Given the description of an element on the screen output the (x, y) to click on. 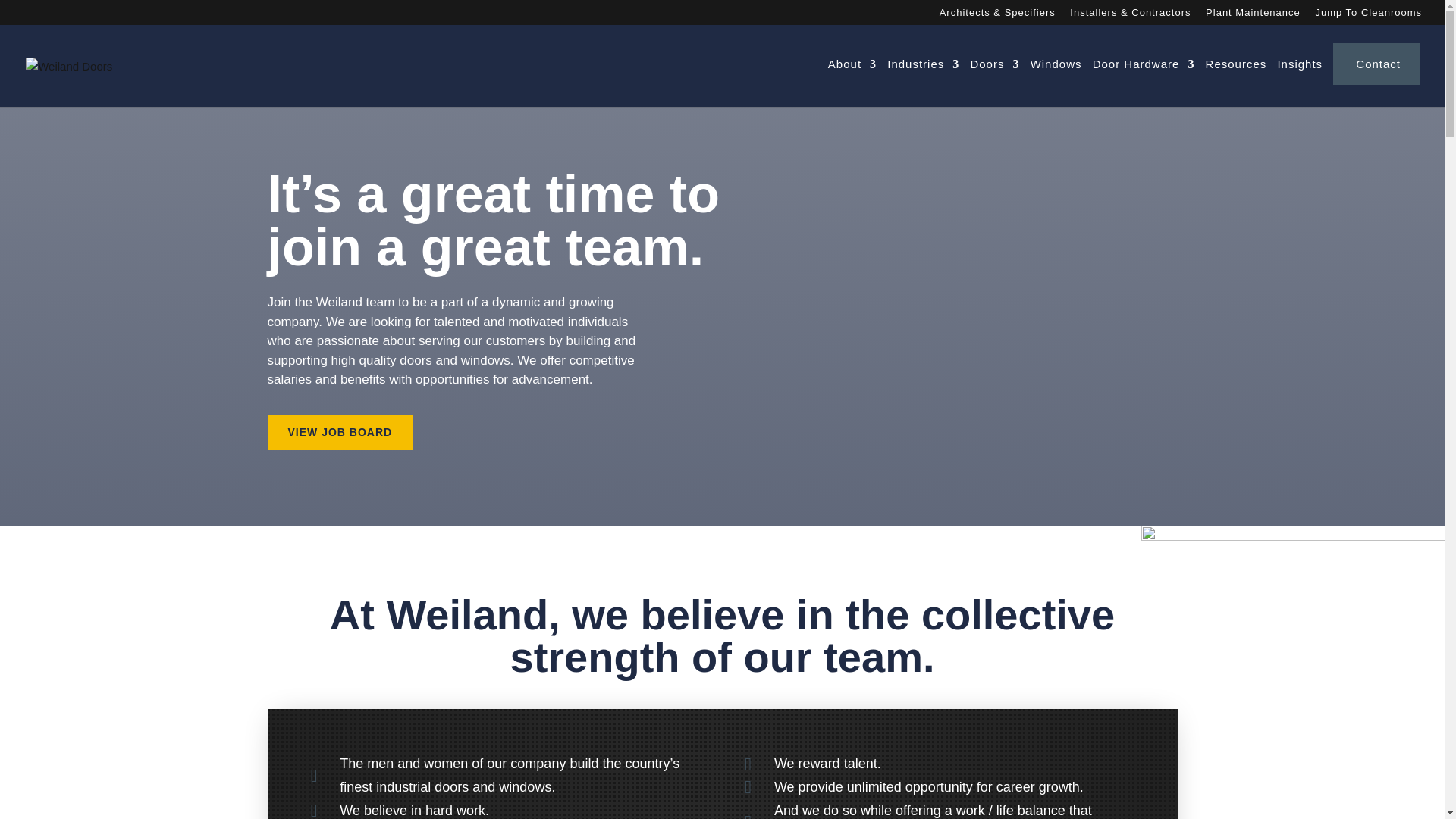
Jump To Cleanrooms (1368, 16)
Windows (1055, 78)
Doors (994, 78)
Door Hardware (1144, 78)
Plant Maintenance (1252, 16)
About (852, 78)
Industries (922, 78)
